Given the description of an element on the screen output the (x, y) to click on. 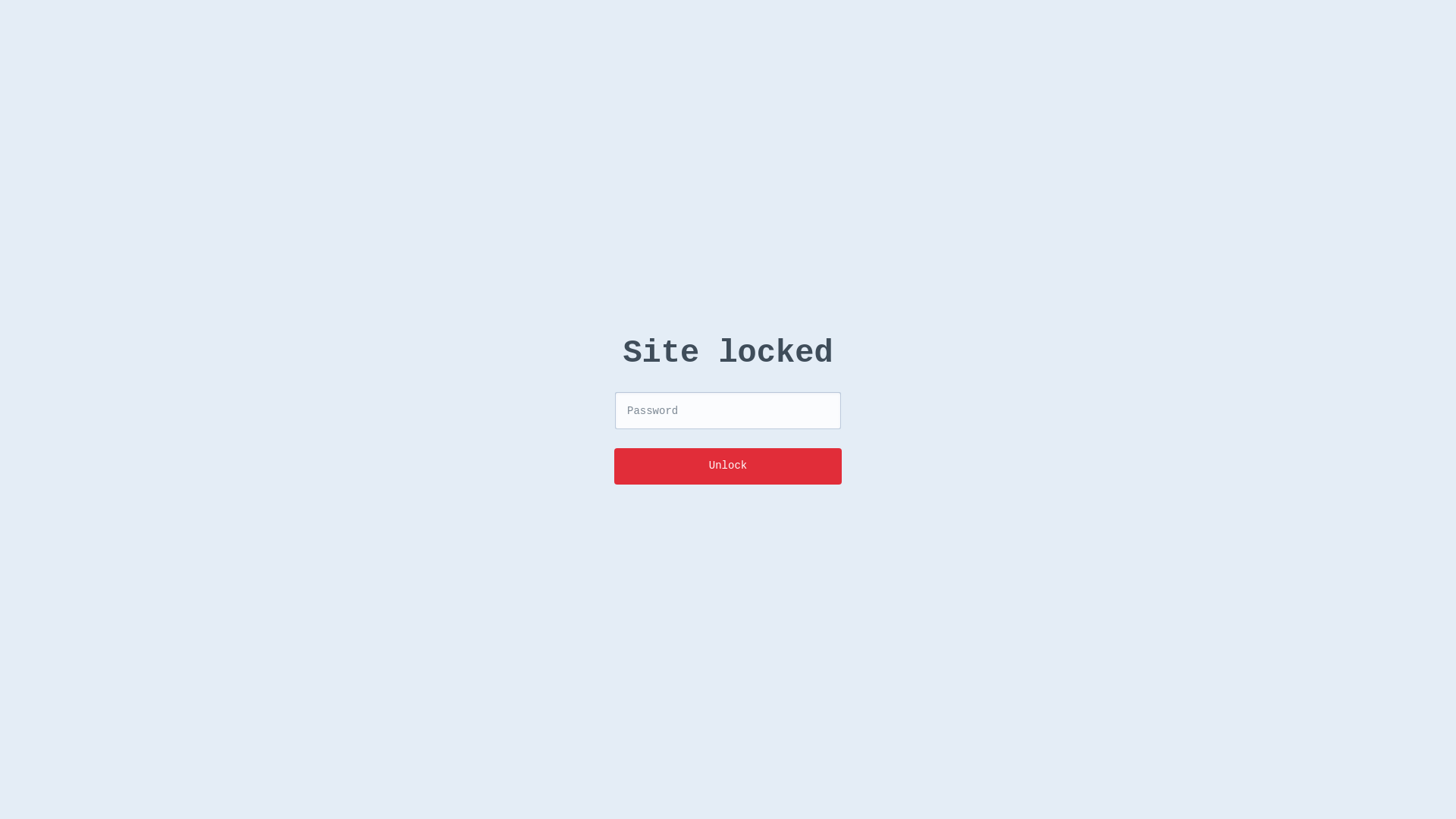
Unlock Element type: text (727, 466)
